Given the description of an element on the screen output the (x, y) to click on. 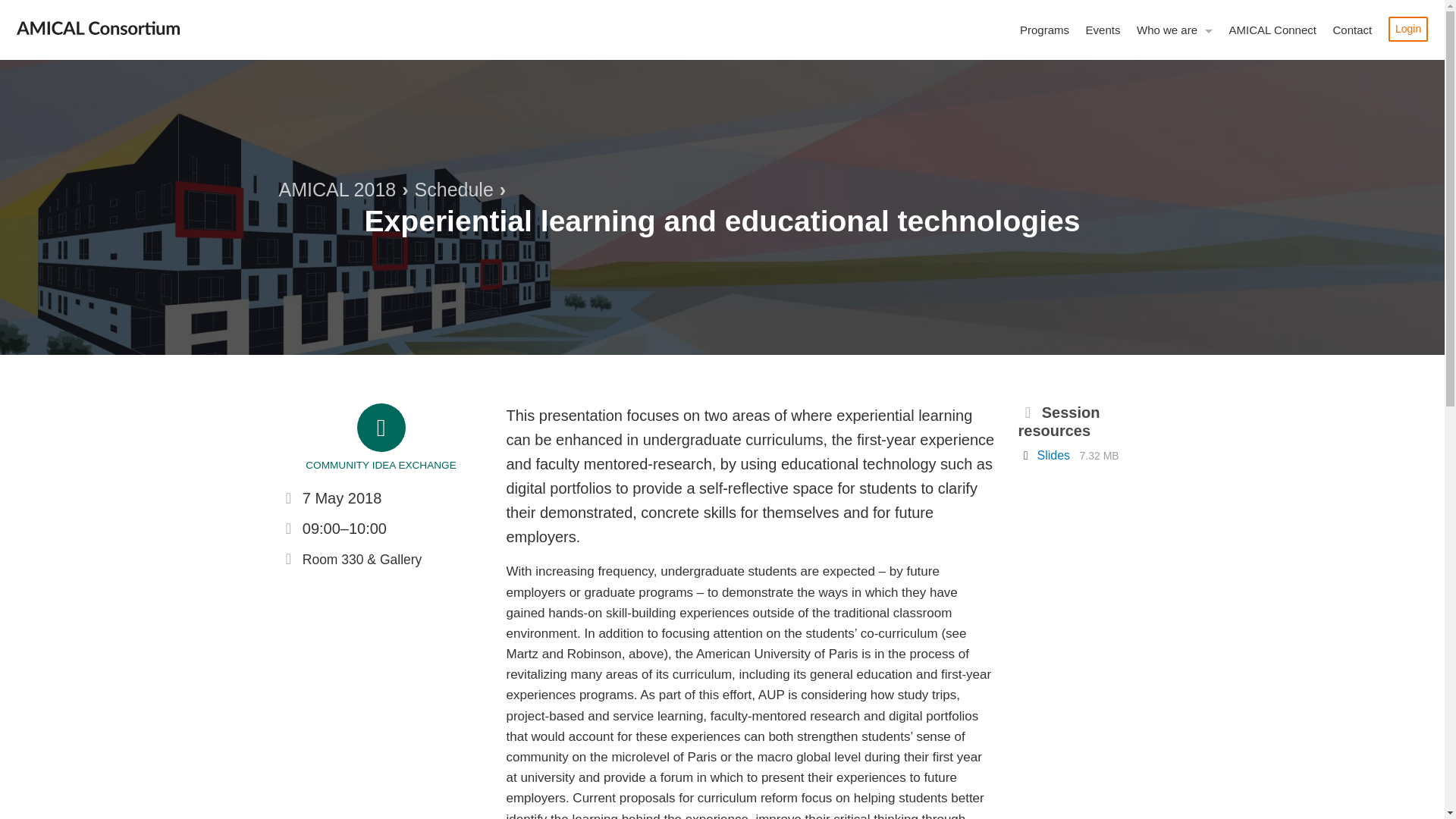
Contact (1351, 30)
Slides (1055, 454)
Join AMICAL (1131, 221)
Schedule (453, 189)
Login (1408, 28)
Programs (1044, 30)
AMICAL Connect (1272, 30)
Events (1102, 30)
Groups (1131, 112)
Community (1131, 194)
AMICAL 2018 (337, 189)
About (1131, 58)
Who we are (1174, 30)
Members (1131, 85)
People (1131, 139)
